Given the description of an element on the screen output the (x, y) to click on. 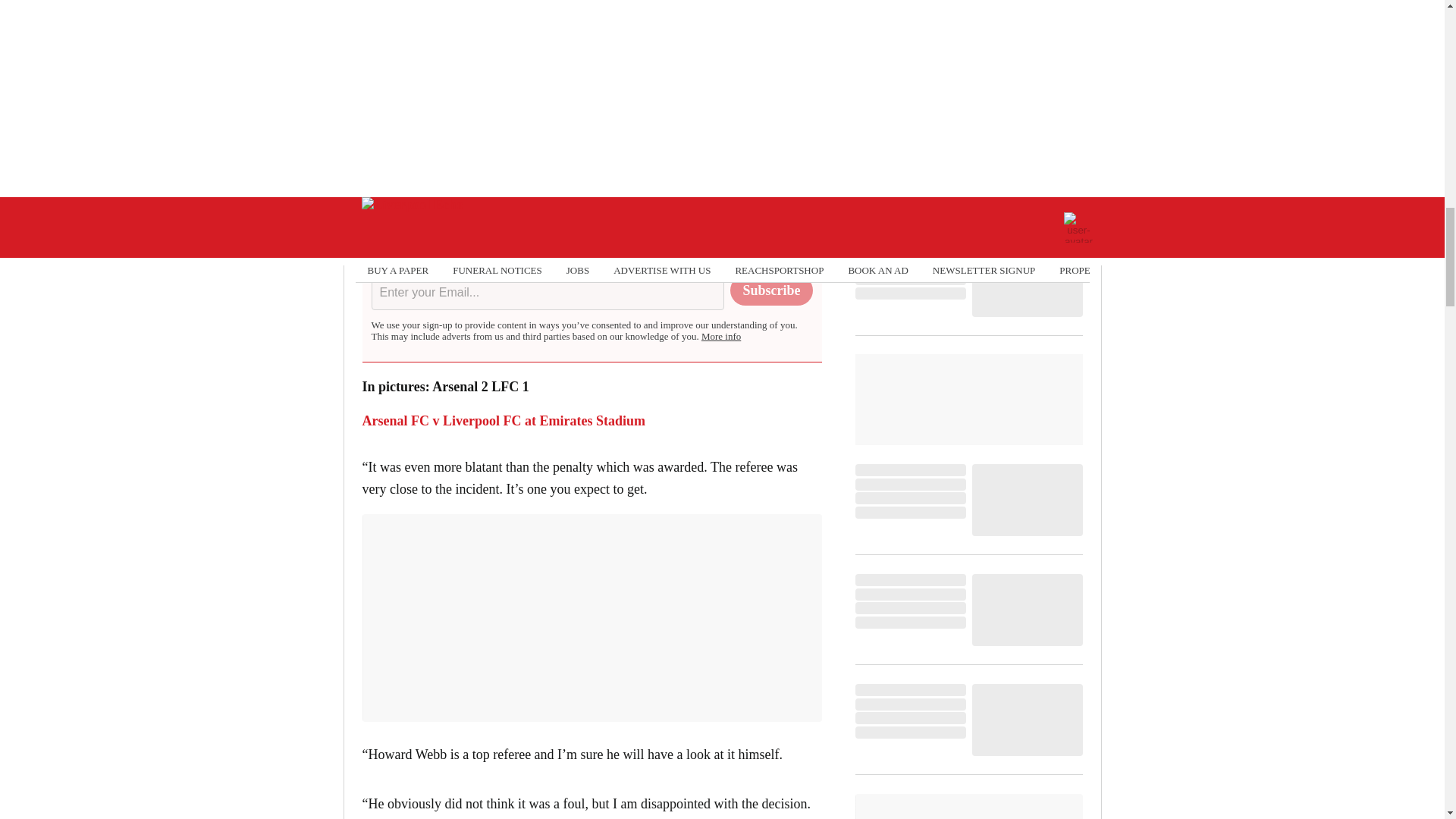
Arsenal FC v Liverpool FC at Emirates Stadium (503, 420)
Subscribe (771, 290)
More info (721, 336)
